Given the description of an element on the screen output the (x, y) to click on. 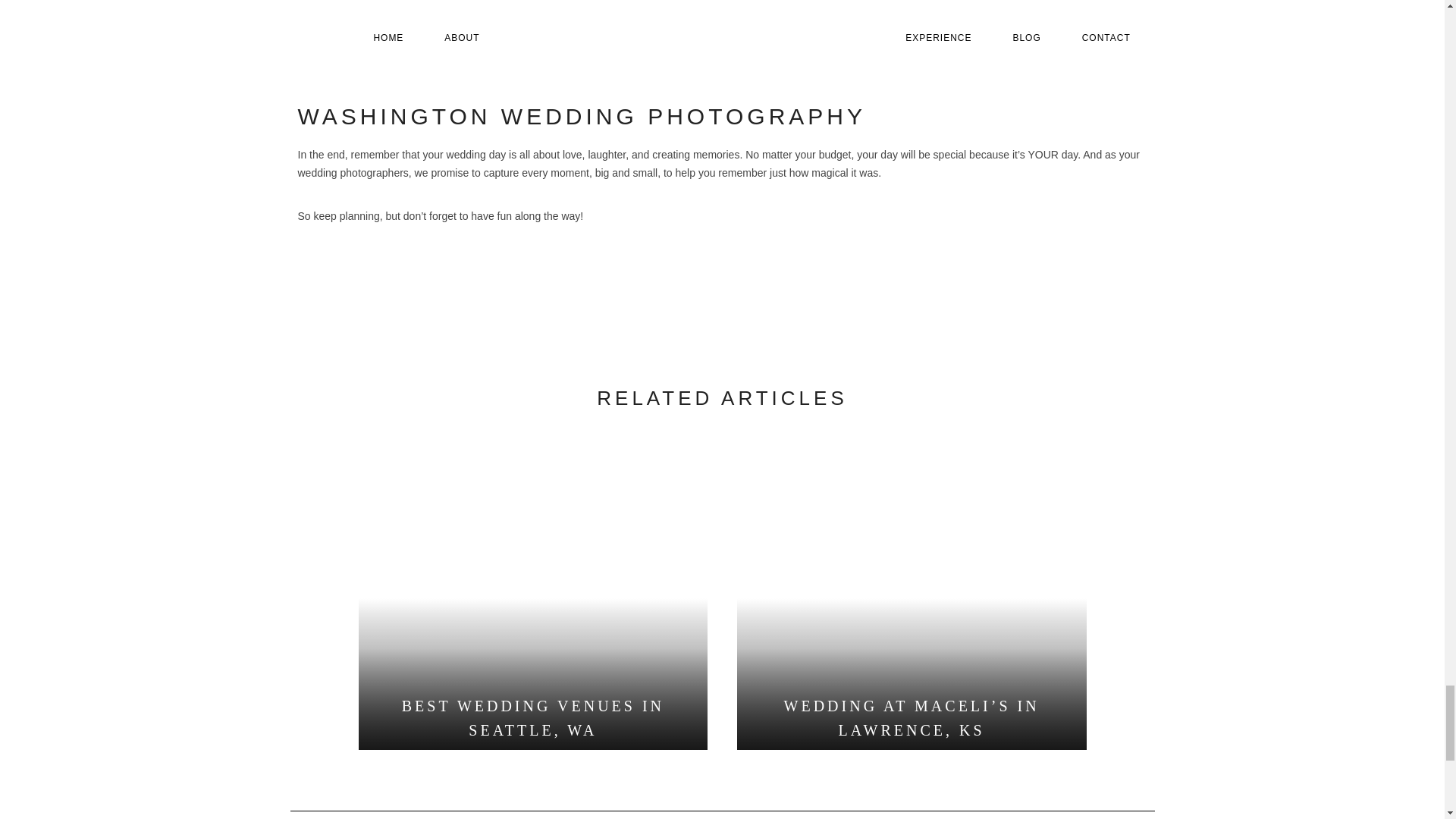
Best Wedding Venues in Seattle, WA (532, 717)
BEST WEDDING VENUES IN SEATTLE, WA (532, 717)
